Given the description of an element on the screen output the (x, y) to click on. 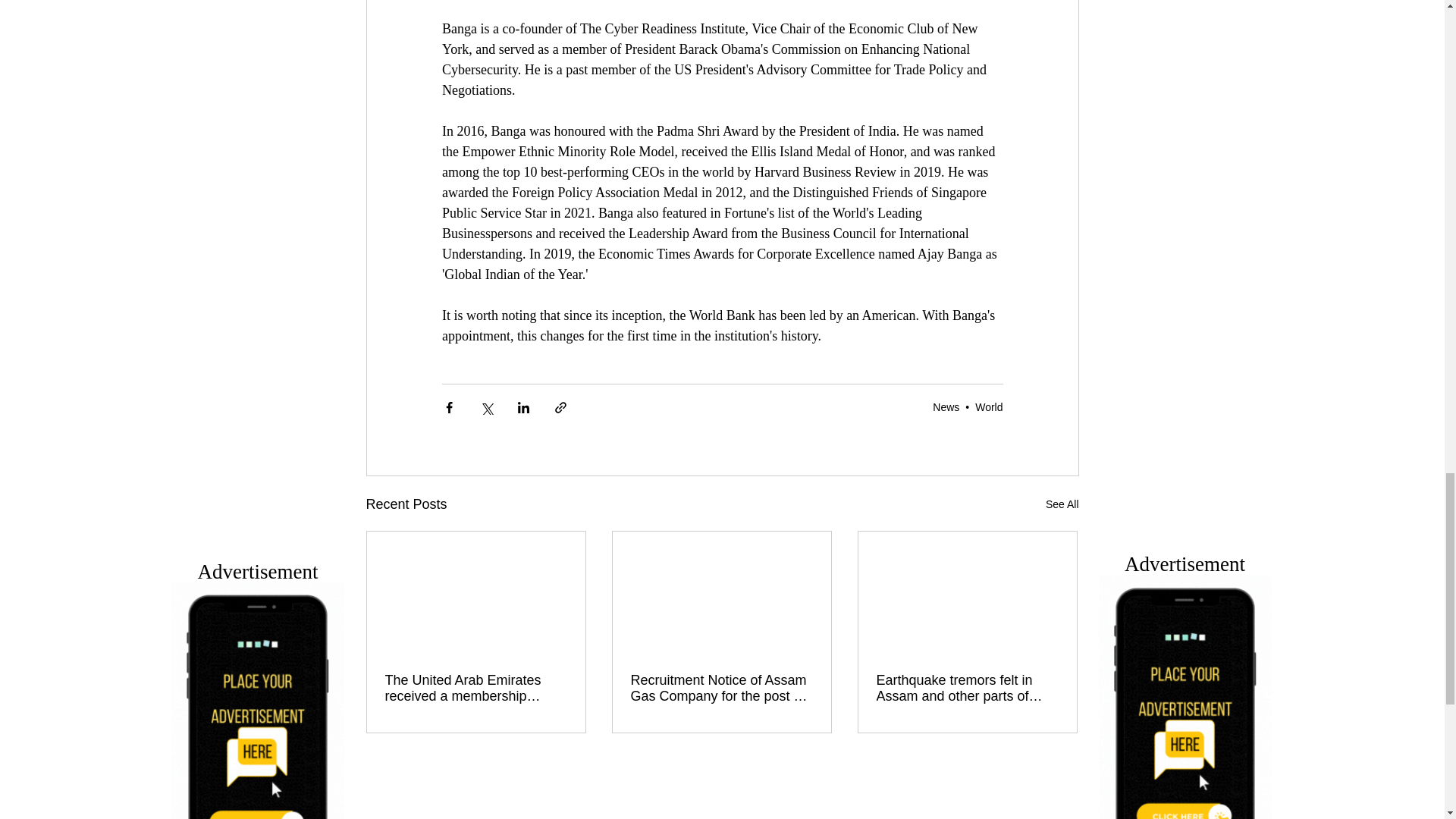
World (989, 407)
See All (1061, 504)
News (946, 407)
